Given the description of an element on the screen output the (x, y) to click on. 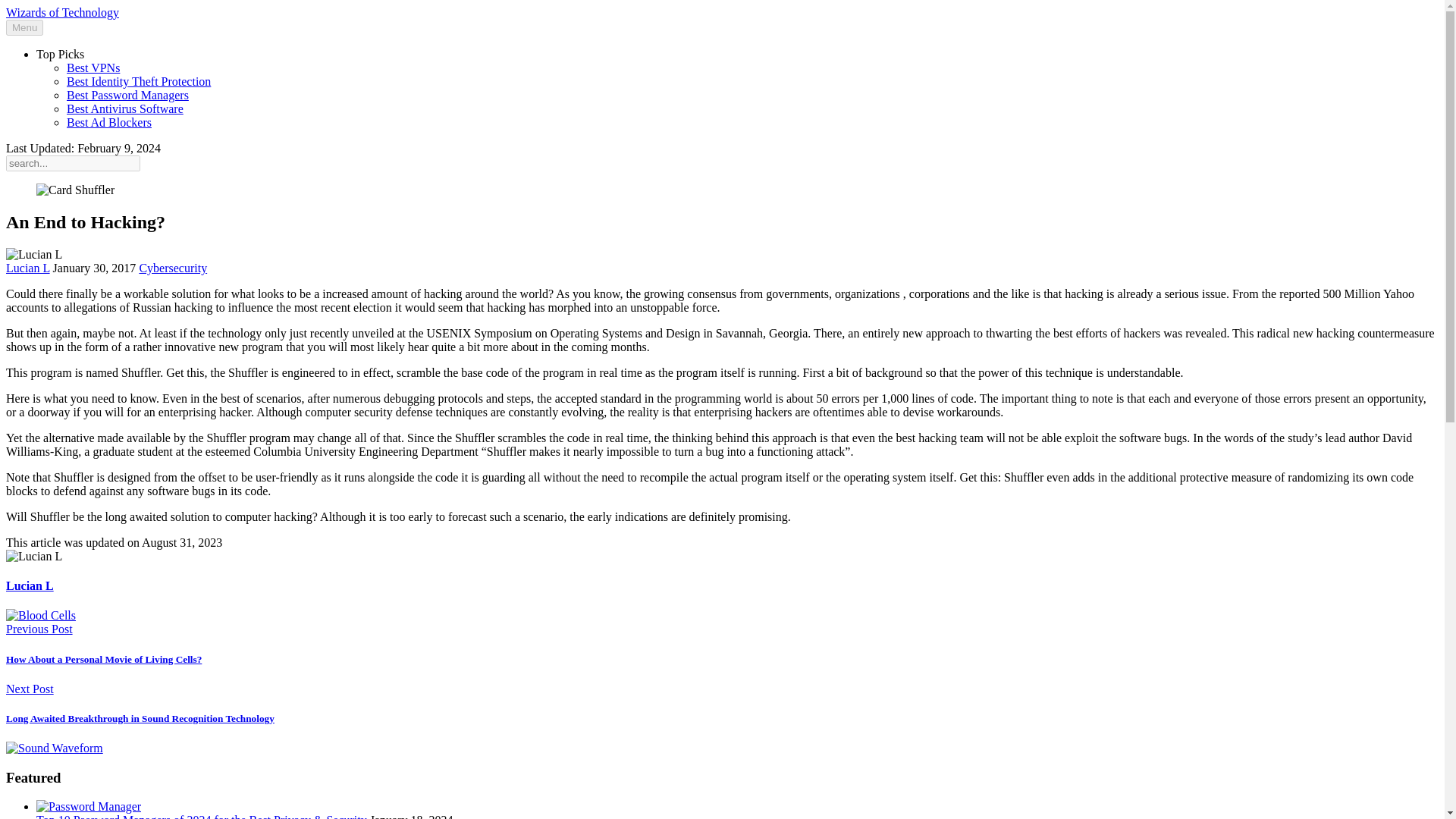
Wizards of Technology (62, 11)
Cybersecurity (172, 267)
Best Identity Theft Protection (138, 81)
Lucian L (27, 267)
Lucian L (29, 585)
Best Antivirus Software (124, 108)
Best Password Managers (127, 94)
Best VPNs (92, 67)
Best Ad Blockers (108, 122)
Lucian L (29, 585)
Menu (24, 27)
Lucian L (27, 267)
